Given the description of an element on the screen output the (x, y) to click on. 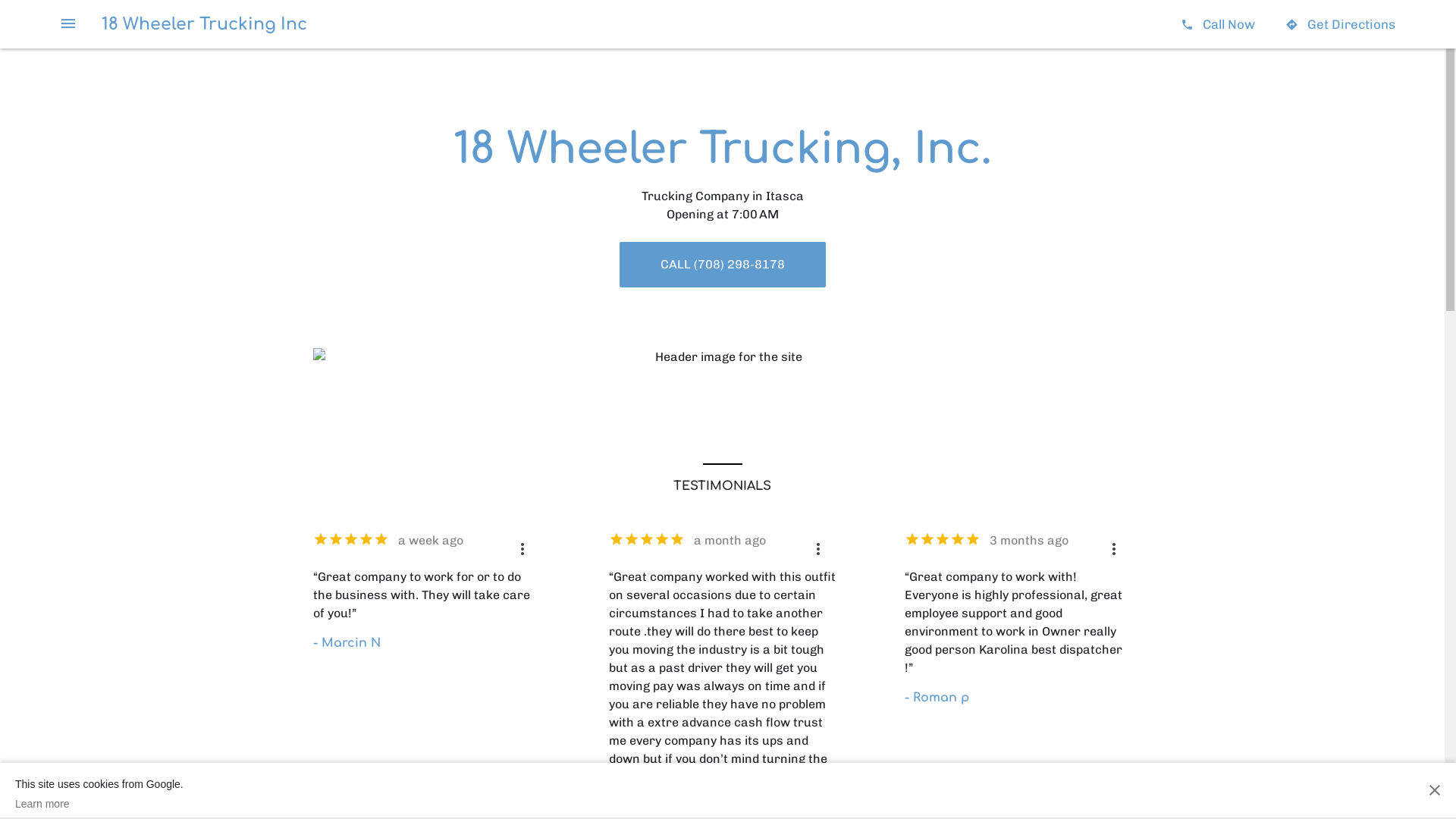
18 Wheeler Trucking Inc Element type: text (204, 24)
CALL (708) 298-8178 Element type: text (721, 264)
Learn more Element type: text (99, 803)
